Given the description of an element on the screen output the (x, y) to click on. 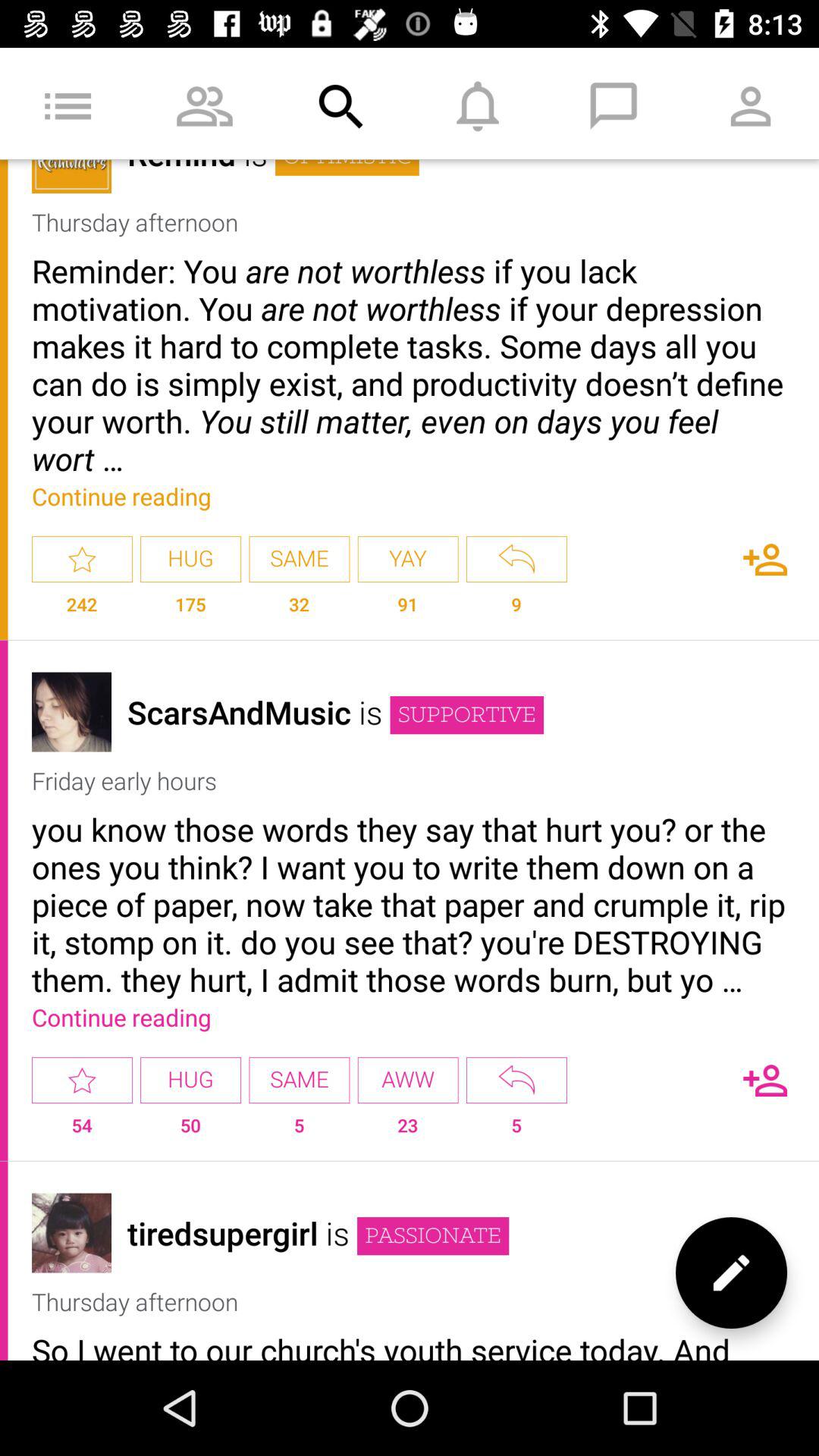
select the item next to is (238, 711)
